Given the description of an element on the screen output the (x, y) to click on. 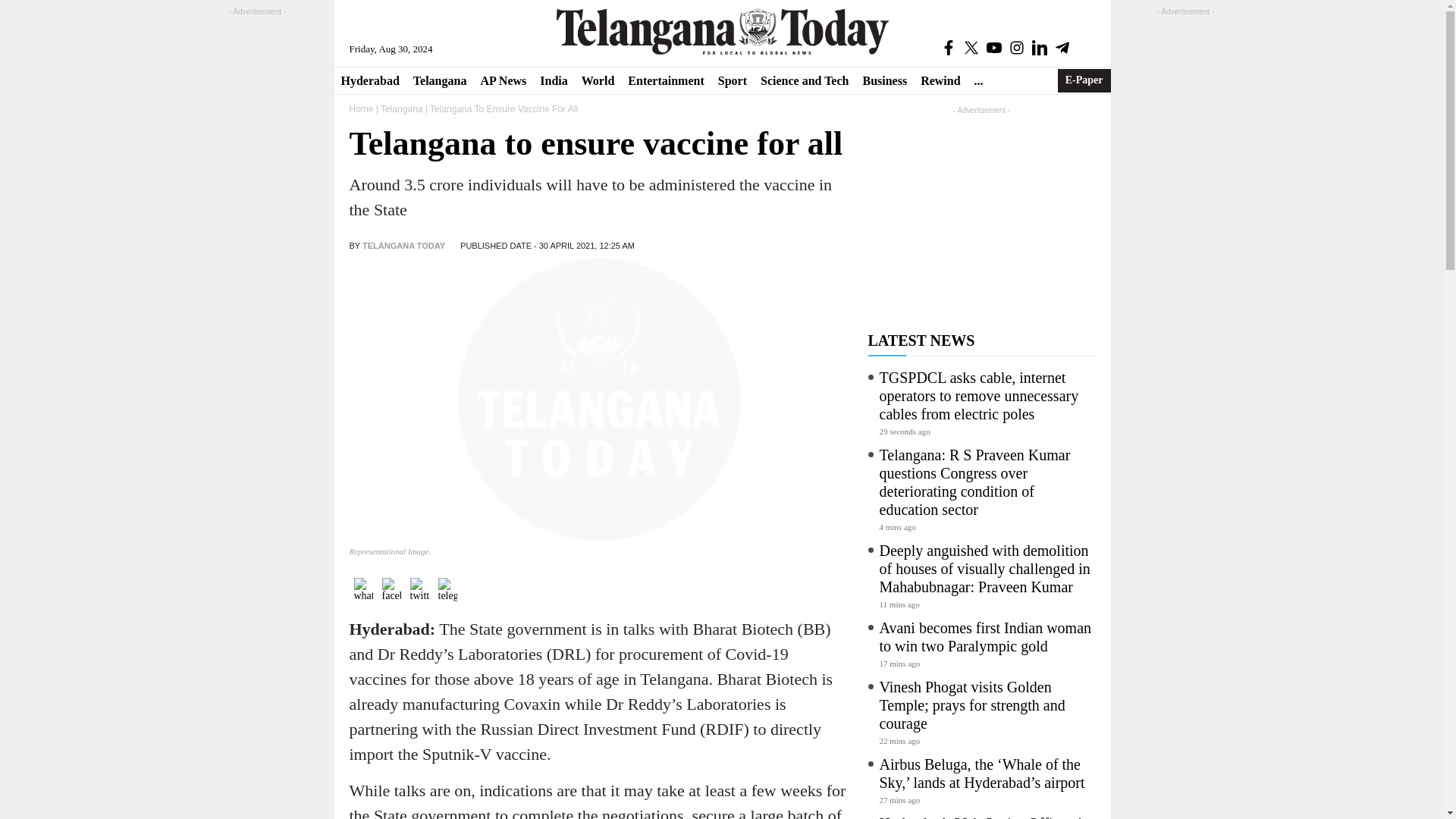
India (552, 80)
Science and Tech (805, 80)
Hyderabad (369, 80)
TELANGANA TODAY (403, 245)
Rewind (940, 80)
World (598, 80)
Entertainment (665, 80)
Business (885, 80)
Business (885, 80)
AP News (502, 80)
